Given the description of an element on the screen output the (x, y) to click on. 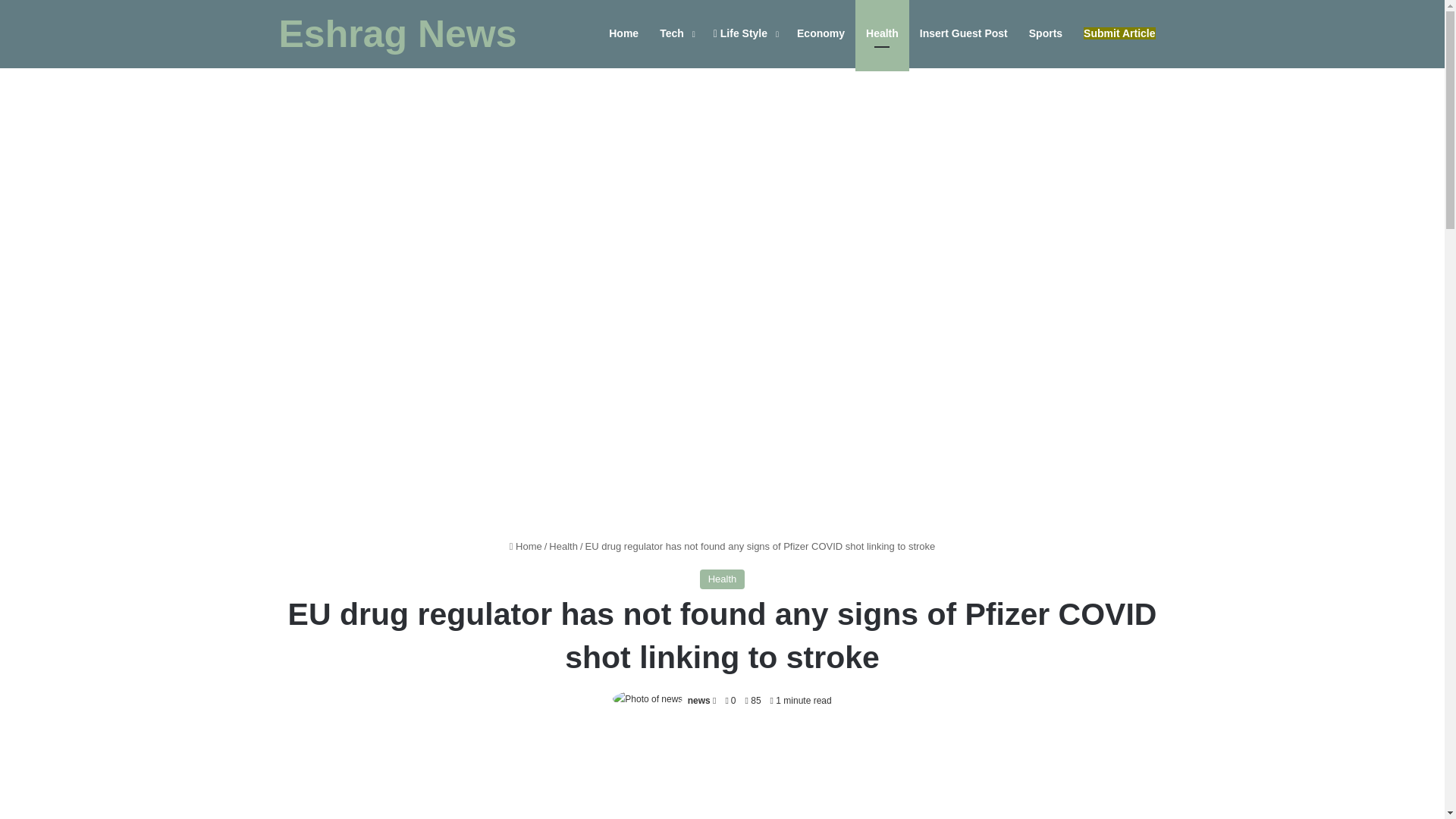
Submit Article (1119, 33)
Economy (821, 33)
news (698, 700)
Insert Guest Post (962, 33)
Advertisement (722, 775)
Eshrag News (397, 34)
Eshrag News (397, 34)
news (698, 700)
Life Style (744, 33)
